Given the description of an element on the screen output the (x, y) to click on. 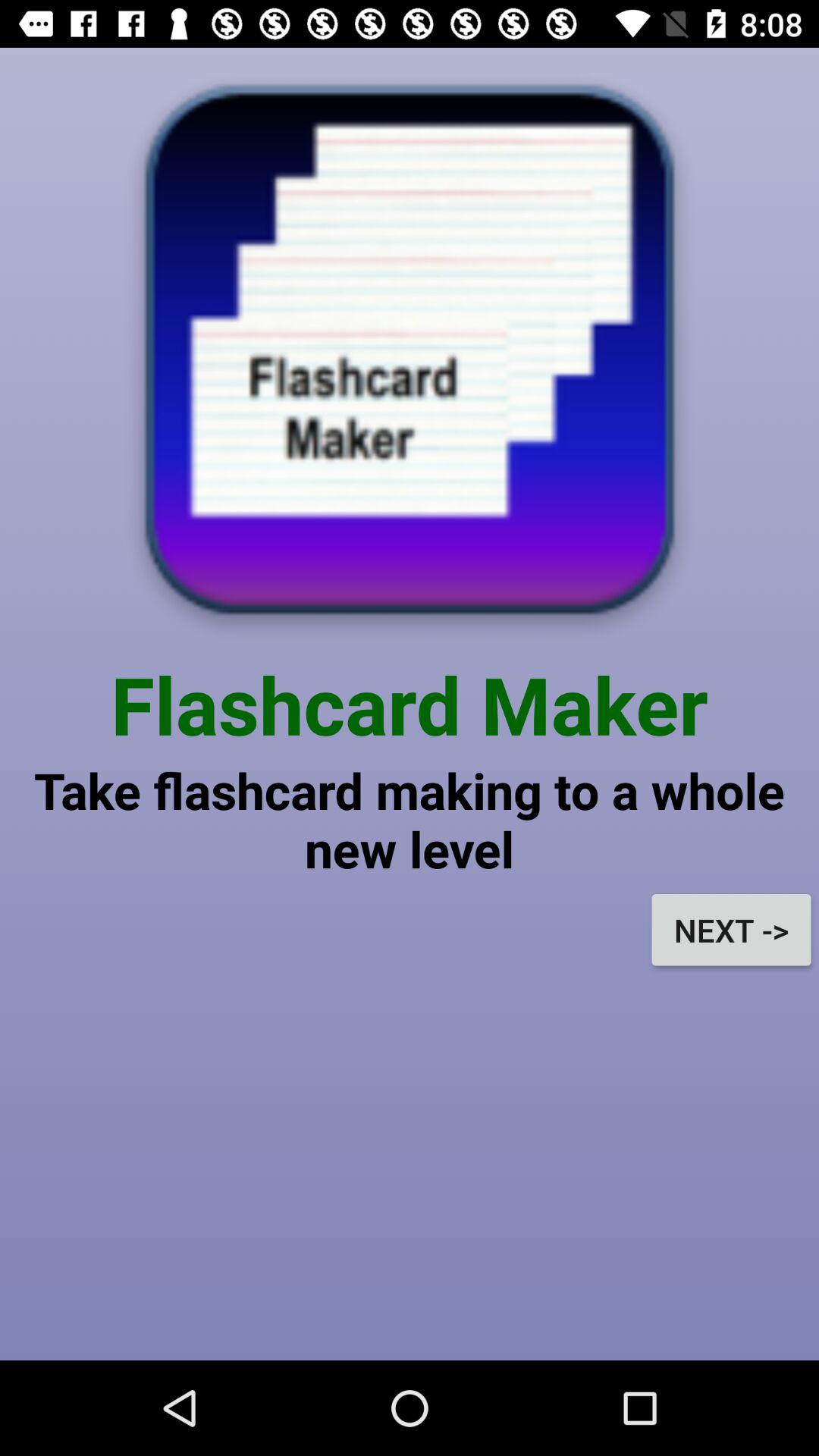
jump to next -> button (731, 929)
